Given the description of an element on the screen output the (x, y) to click on. 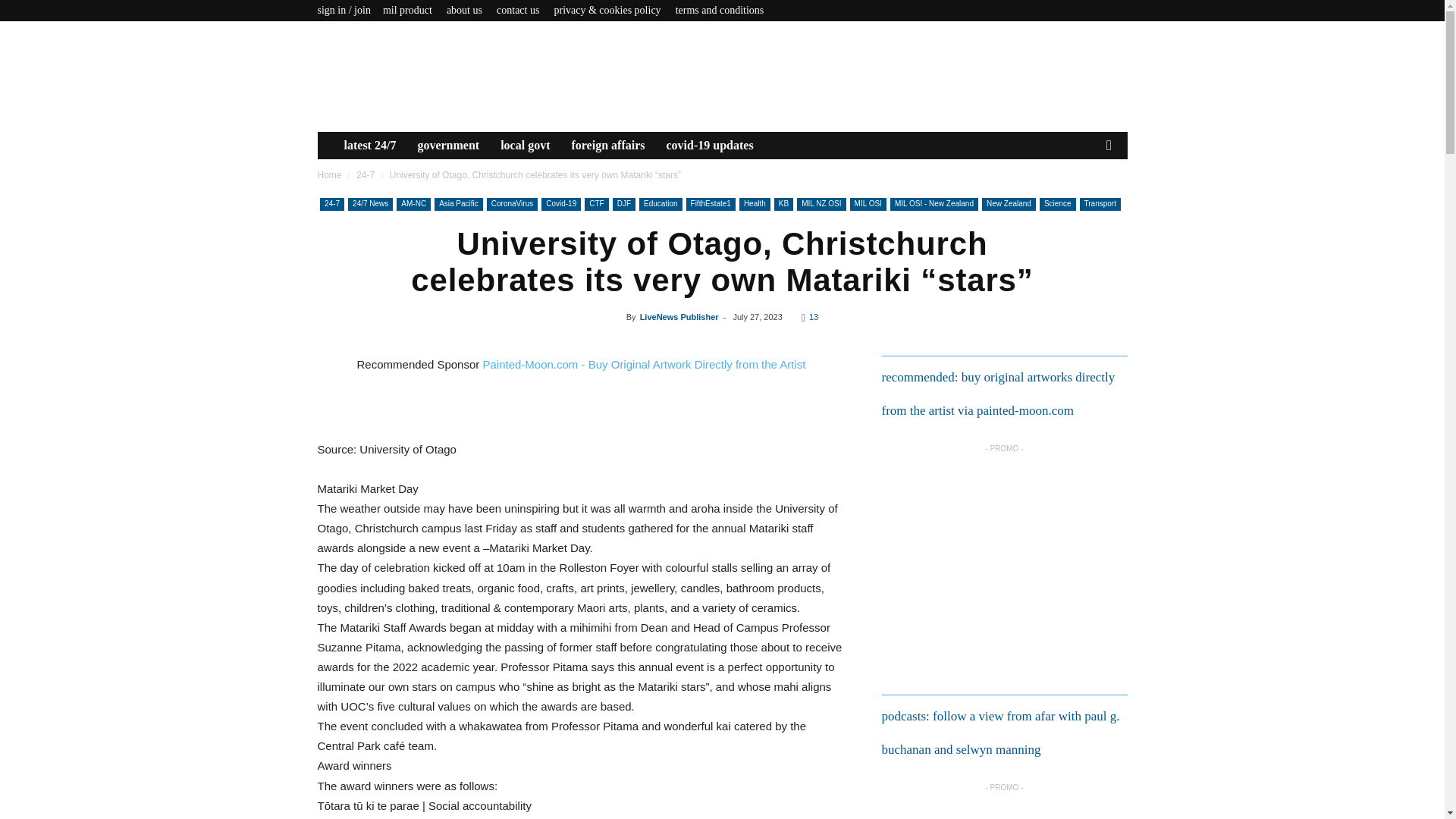
24-7 (365, 174)
Education (660, 204)
covid-19 updates (708, 144)
foreign affairs (607, 144)
contact us (517, 9)
CoronaVirus (511, 204)
View all posts in 24-7 (365, 174)
24-7 (331, 204)
DJF (623, 204)
government (447, 144)
local govt (524, 144)
about us (463, 9)
Asia Pacific (458, 204)
terms and conditions (719, 9)
3rd party ad content (1002, 557)
